Given the description of an element on the screen output the (x, y) to click on. 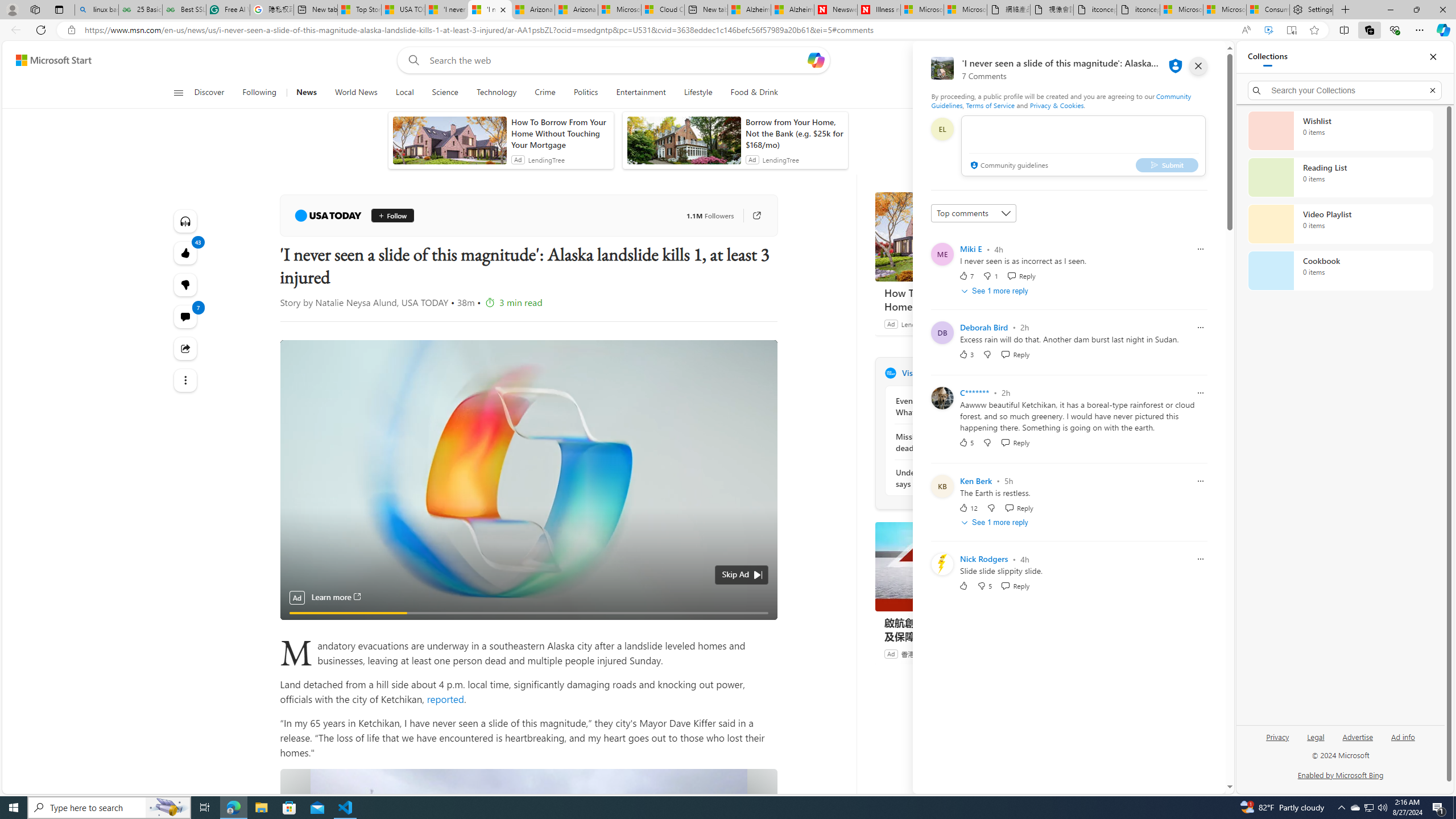
View on Watch View on Watch (735, 355)
Submit (1166, 164)
Nick Rodgers (984, 559)
